Given the description of an element on the screen output the (x, y) to click on. 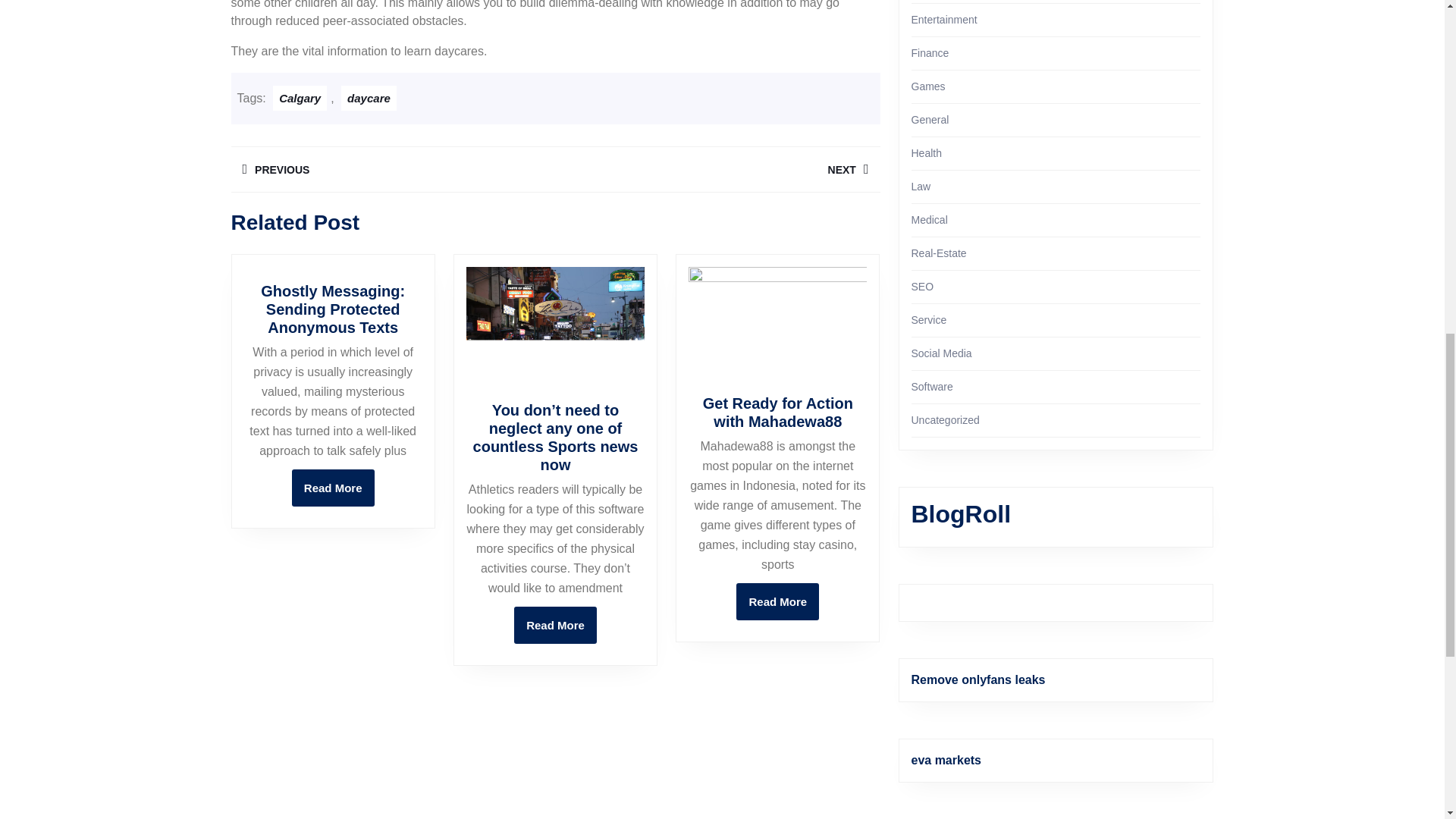
Finance (930, 52)
Entertainment (943, 19)
Health (333, 487)
daycare (926, 152)
Games (368, 97)
General (927, 86)
Calgary (930, 119)
